Given the description of an element on the screen output the (x, y) to click on. 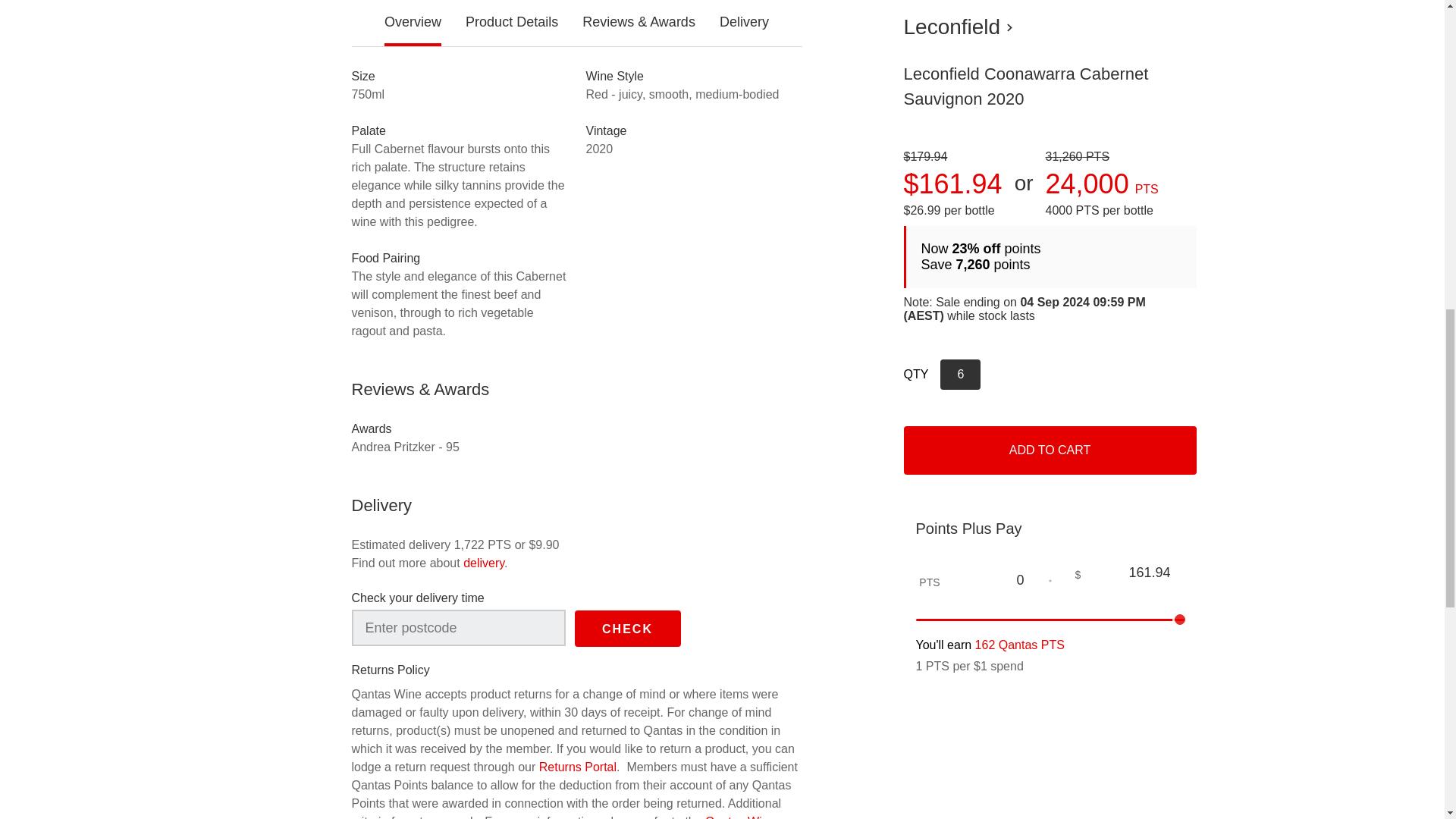
delivery (483, 562)
Returns Portal (576, 766)
Cabernet Sauvignon (407, 39)
CHECK (628, 628)
